Given the description of an element on the screen output the (x, y) to click on. 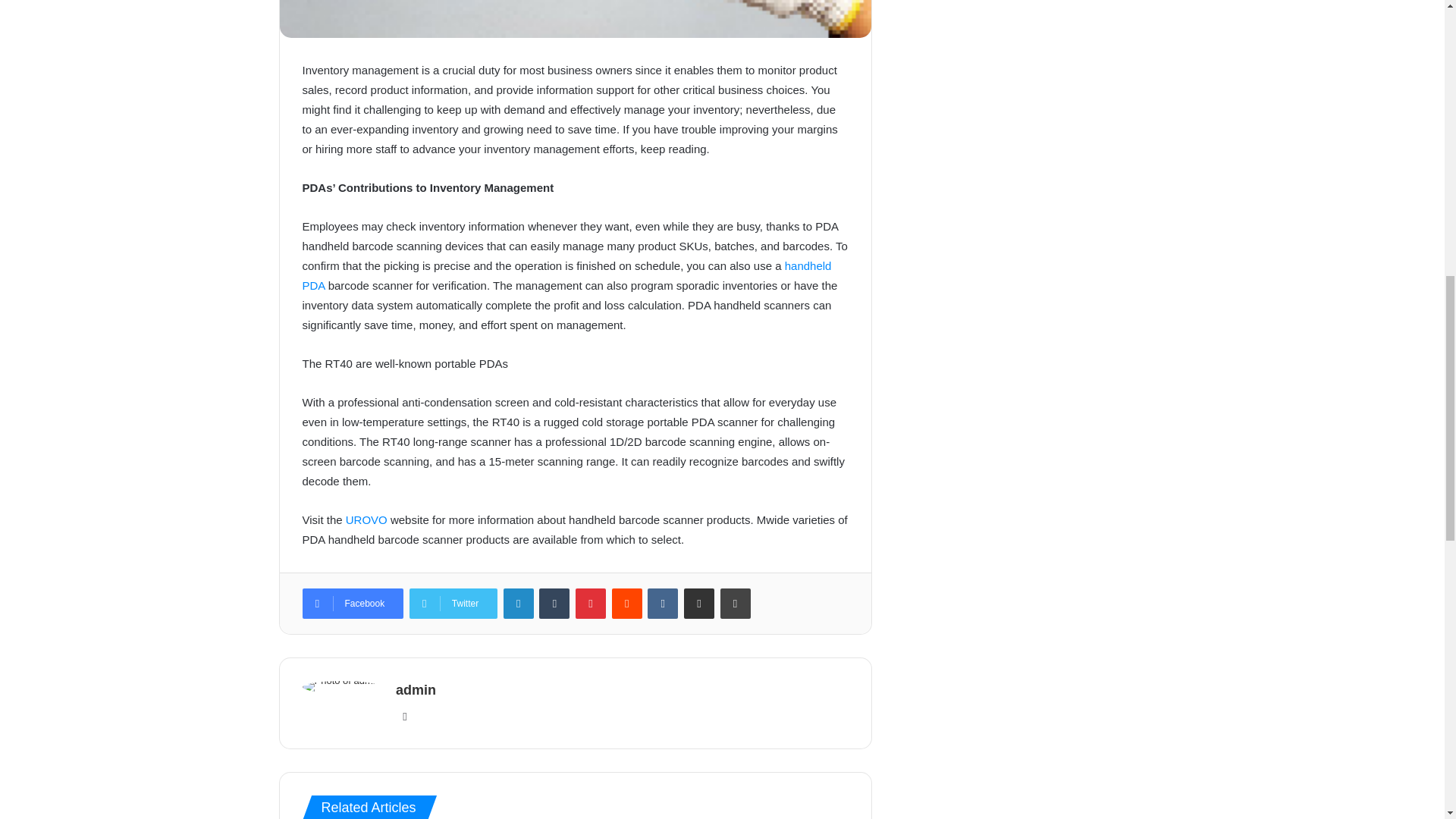
Share via Email (699, 603)
admin (415, 689)
Pinterest (590, 603)
LinkedIn (518, 603)
UROVO (366, 519)
Print (735, 603)
Reddit (626, 603)
Tumblr (553, 603)
Facebook (352, 603)
Twitter (453, 603)
Share via Email (699, 603)
handheld PDA (566, 275)
Facebook (352, 603)
Pinterest (590, 603)
VKontakte (662, 603)
